Given the description of an element on the screen output the (x, y) to click on. 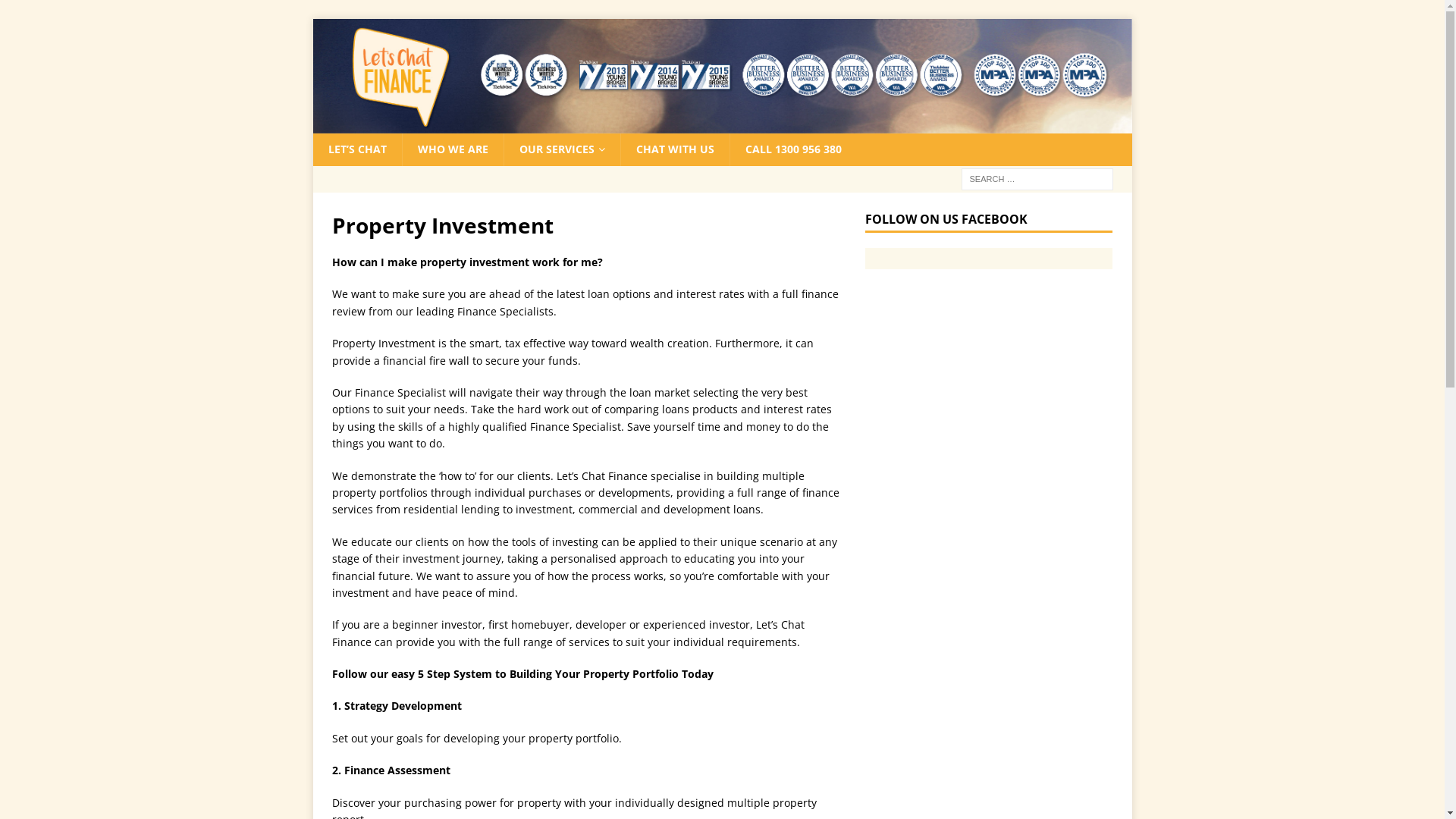
CHAT WITH US Element type: text (674, 149)
WHO WE ARE Element type: text (452, 149)
CALL 1300 956 380 Element type: text (792, 149)
Search Element type: text (56, 11)
OUR SERVICES Element type: text (561, 149)
Let's Chat Finance Element type: hover (721, 124)
